Given the description of an element on the screen output the (x, y) to click on. 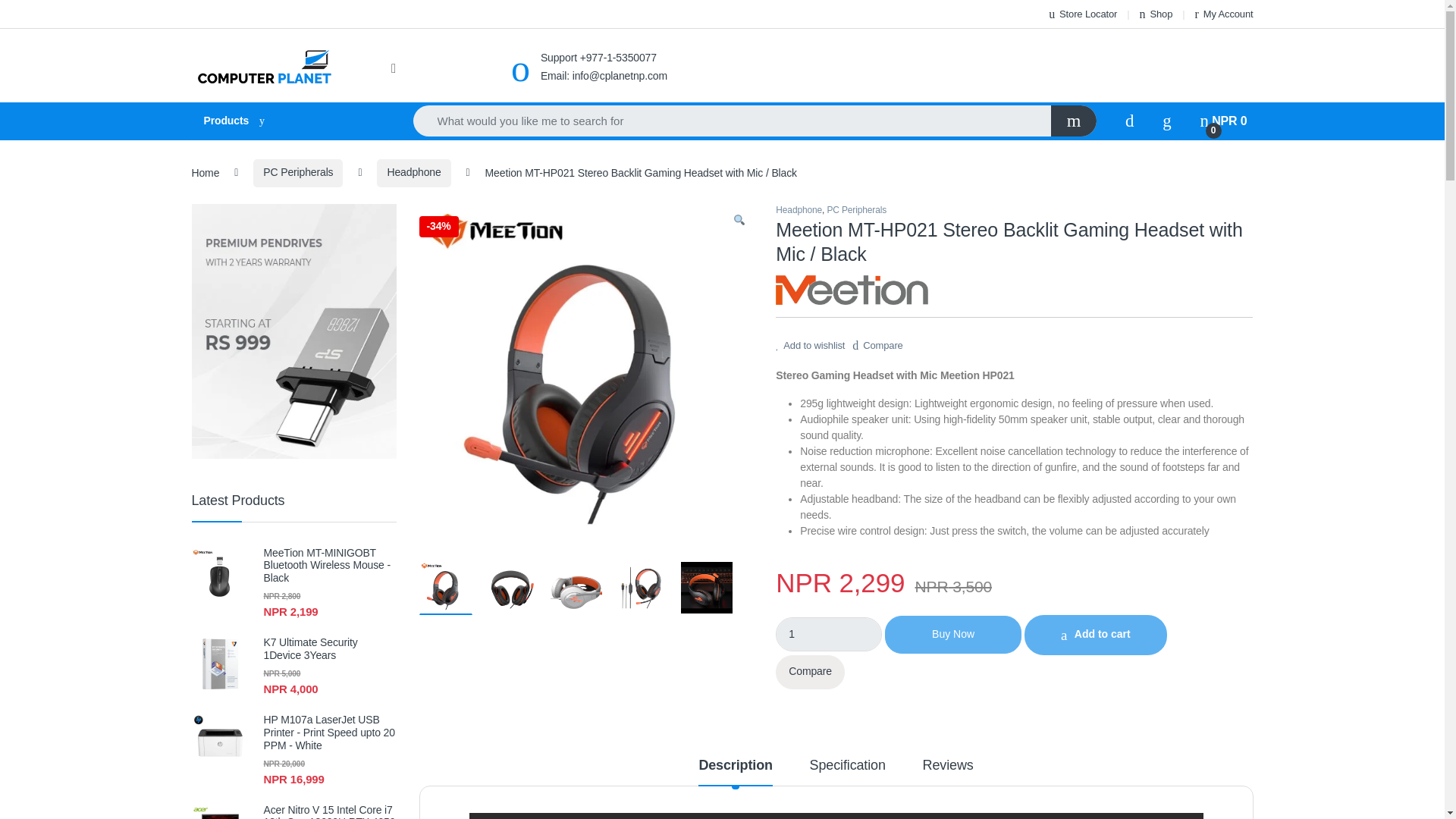
My Account (1224, 13)
Shop (1156, 13)
Shop (1156, 13)
Store Locator (1082, 13)
Store Locator (1082, 13)
My Account (1224, 13)
1 (829, 634)
